Given the description of an element on the screen output the (x, y) to click on. 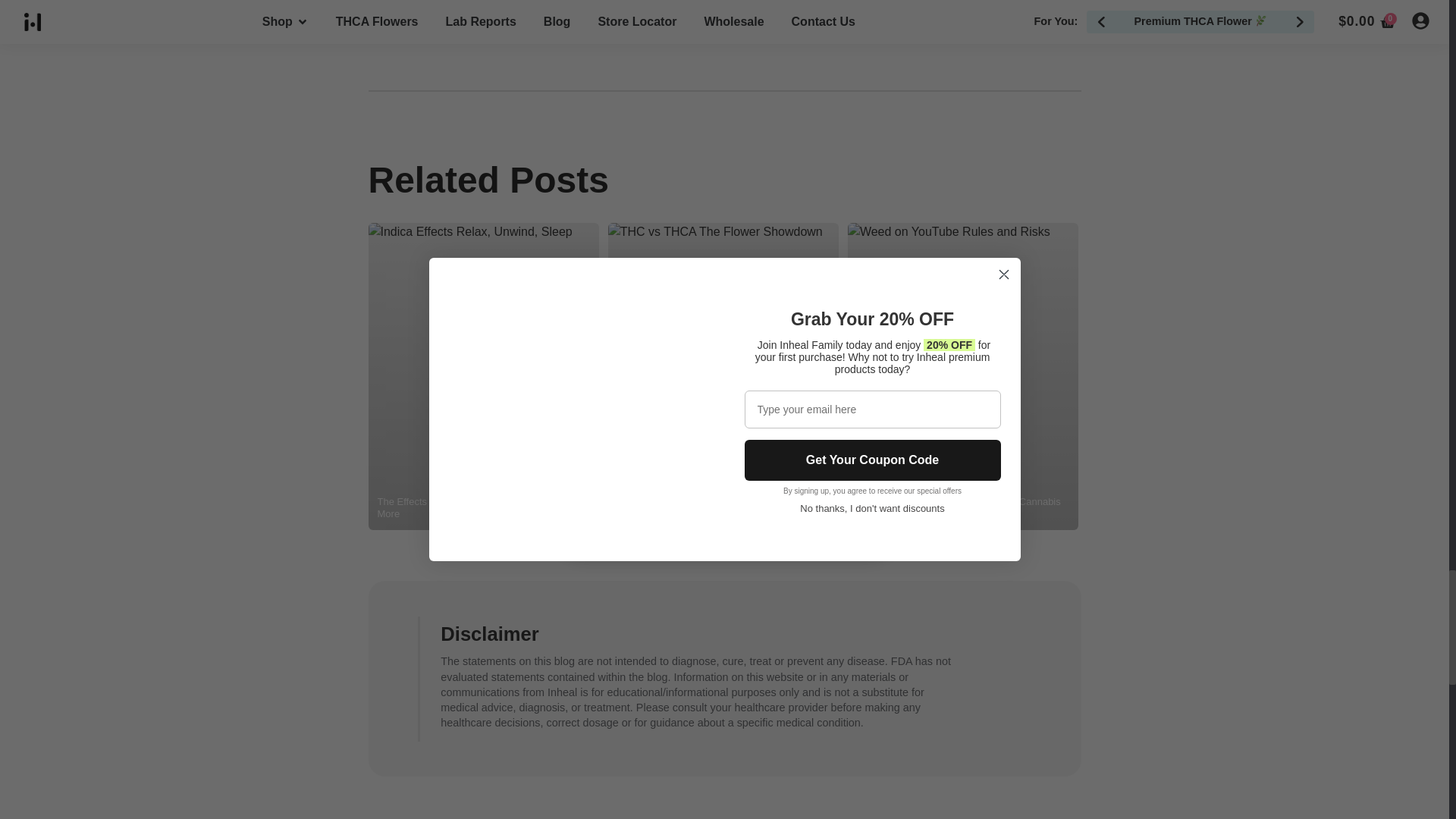
What is Live Resin Delta 8? The Ultimate Guide (1202, 376)
What is Live Resin Delta 8? The Ultimate Guide (1202, 376)
The Effects of Indica: Relaxation, Sleep, and More (483, 376)
THC vs THCA in Flower: Understanding the Difference (723, 376)
Can You Smoke Weed on YouTube? Cannabis Content Guidelines (962, 376)
THC vs THCA in Flower: Understanding the Difference (723, 508)
THC vs THCA in Flower: Understanding the Difference (723, 376)
Can You Smoke Weed on YouTube? Cannabis Content Guidelines (962, 376)
What is Live Resin Delta 8? The Ultimate Guide (1202, 508)
The Effects of Indica: Relaxation, Sleep, and More (483, 508)
Can You Smoke Weed on YouTube? Cannabis Content Guidelines (962, 508)
THC vs THCA in Flower: Understanding the Difference (723, 376)
The Effects of Indica: Relaxation, Sleep, and More (483, 376)
The Effects of Indica: Relaxation, Sleep, and More (483, 376)
Can You Smoke Weed on YouTube? Cannabis Content Guidelines (962, 376)
